Given the description of an element on the screen output the (x, y) to click on. 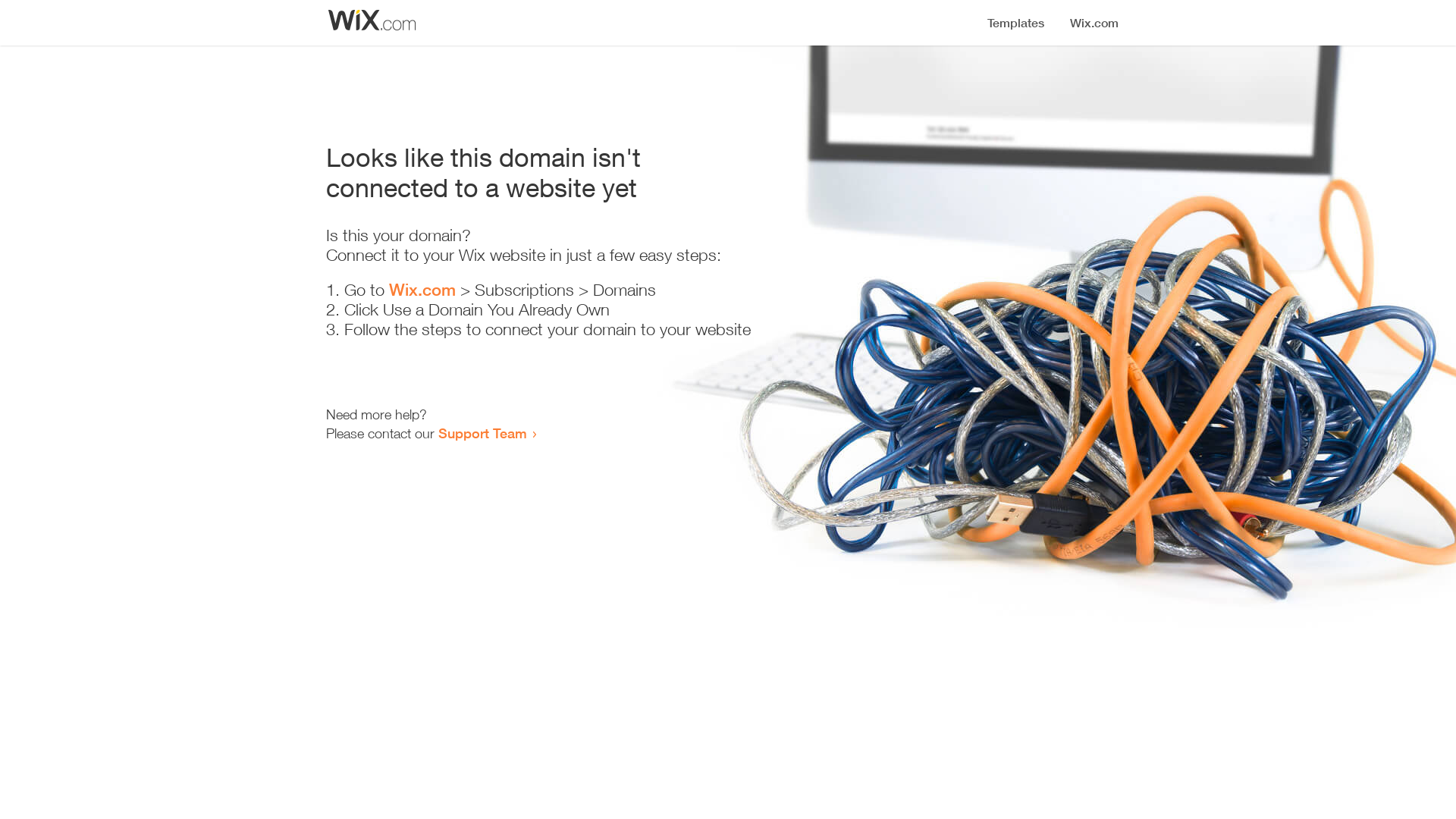
Wix.com Element type: text (422, 289)
Support Team Element type: text (482, 432)
